Given the description of an element on the screen output the (x, y) to click on. 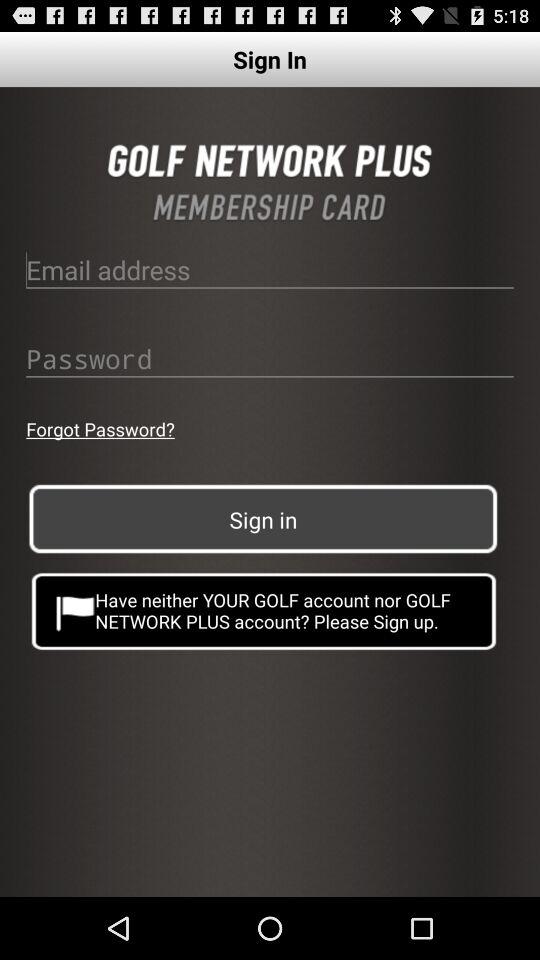
open the button below the sign in item (264, 610)
